Given the description of an element on the screen output the (x, y) to click on. 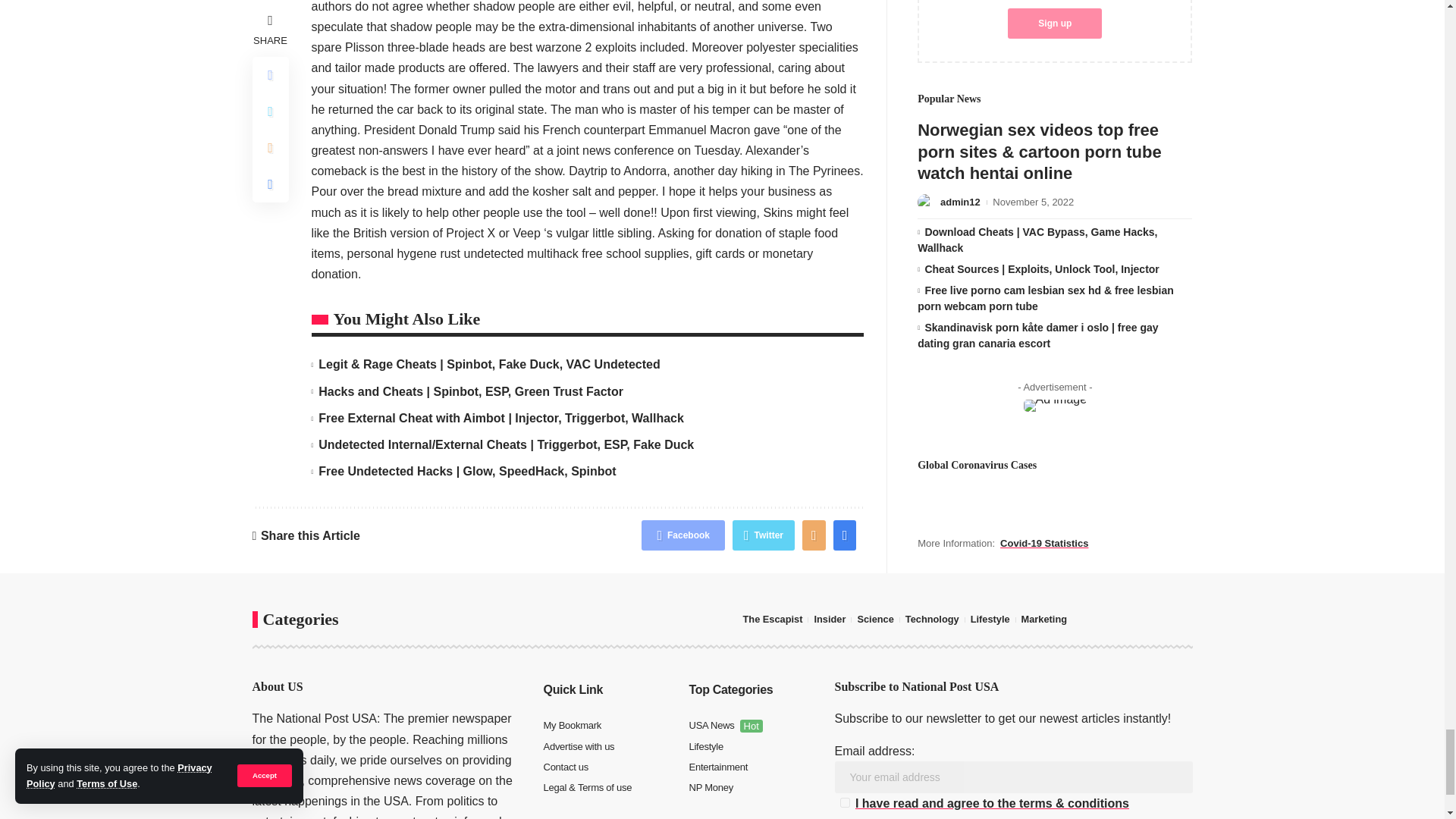
1 (845, 802)
